Given the description of an element on the screen output the (x, y) to click on. 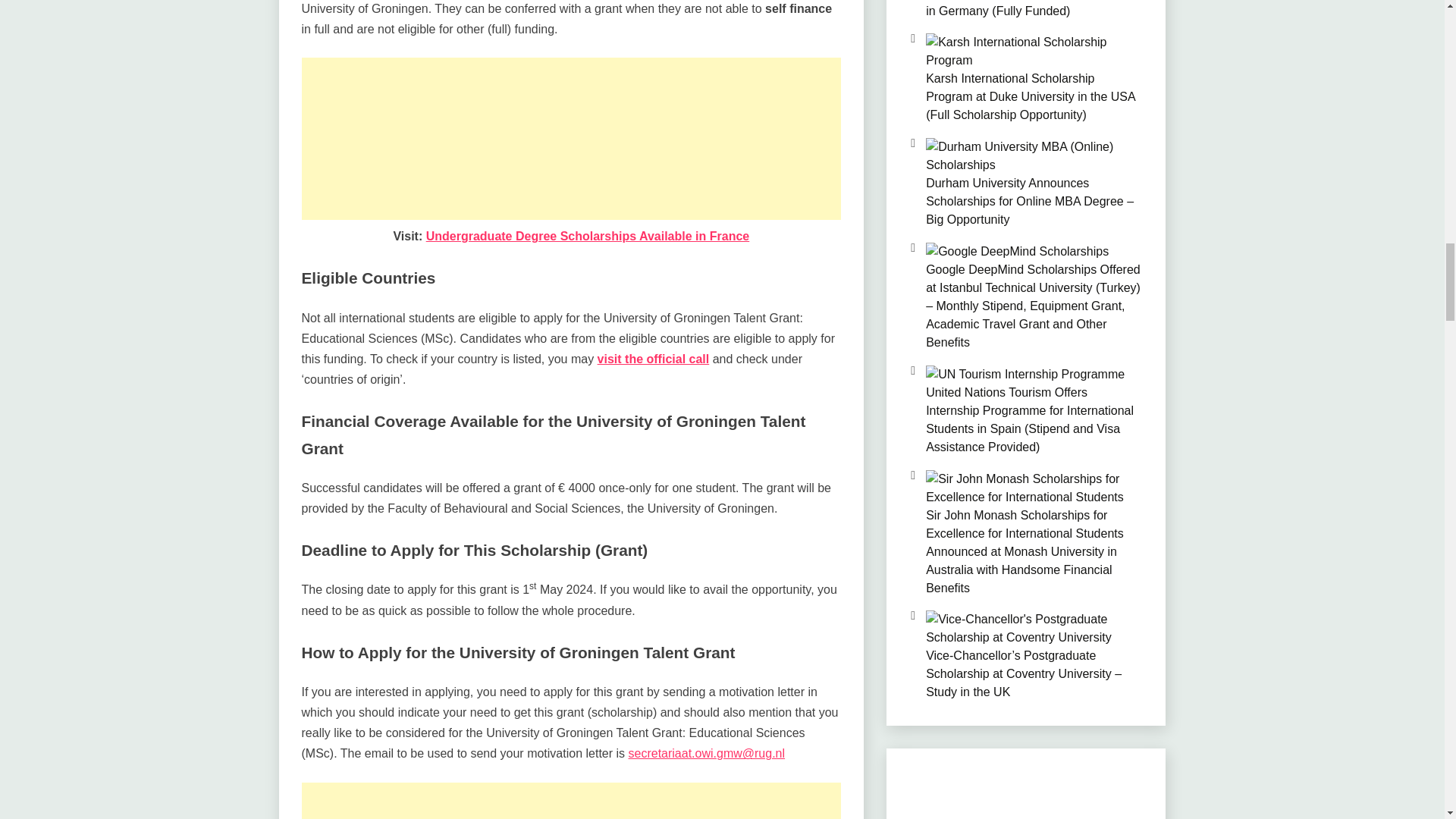
Undergraduate Degree Scholarships Available in France (587, 236)
visit the official call (653, 358)
